Given the description of an element on the screen output the (x, y) to click on. 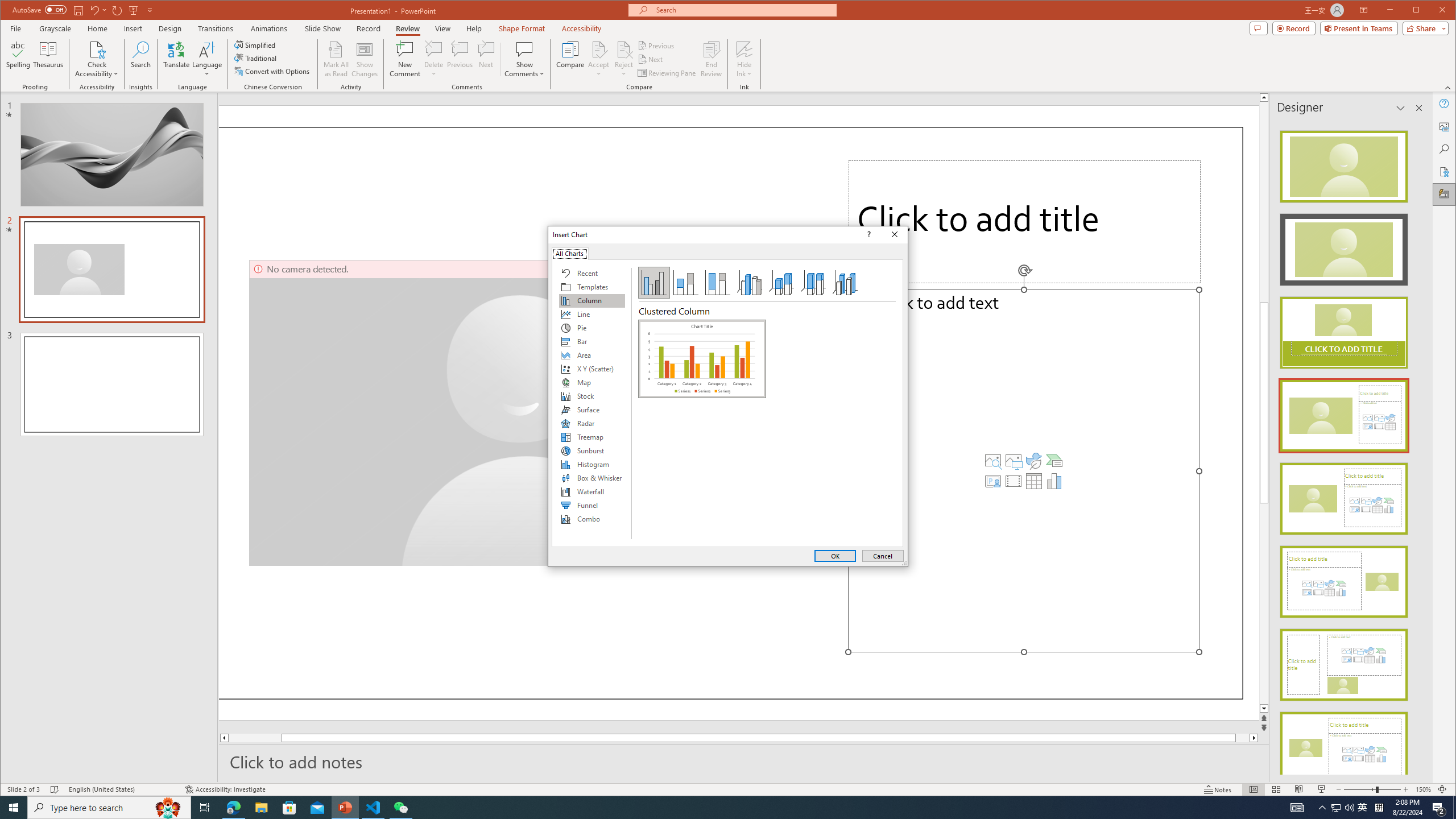
Recommended Design: Design Idea (1343, 163)
Combo (591, 518)
Zoom 150% (1422, 789)
Class: NetUIGalleryContainer (701, 429)
